Given the description of an element on the screen output the (x, y) to click on. 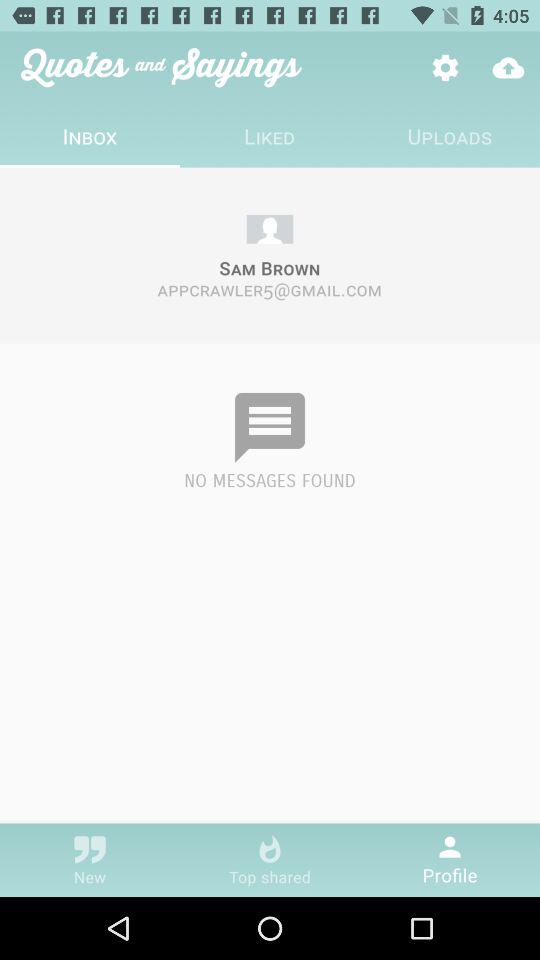
turn on icon above the uploads (508, 67)
